Given the description of an element on the screen output the (x, y) to click on. 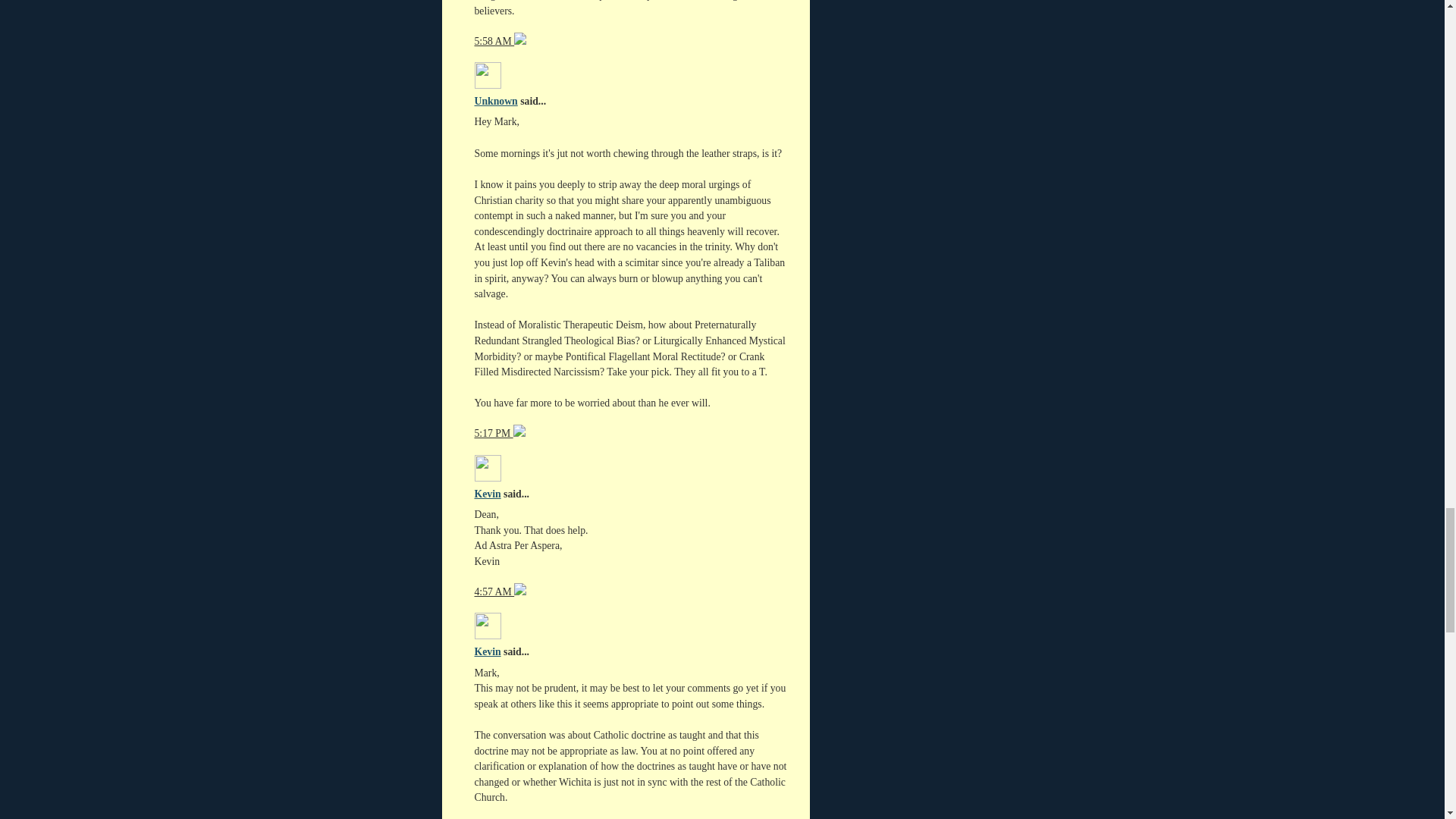
5:58 AM (494, 41)
Unknown (496, 101)
5:17 PM (493, 432)
